Given the description of an element on the screen output the (x, y) to click on. 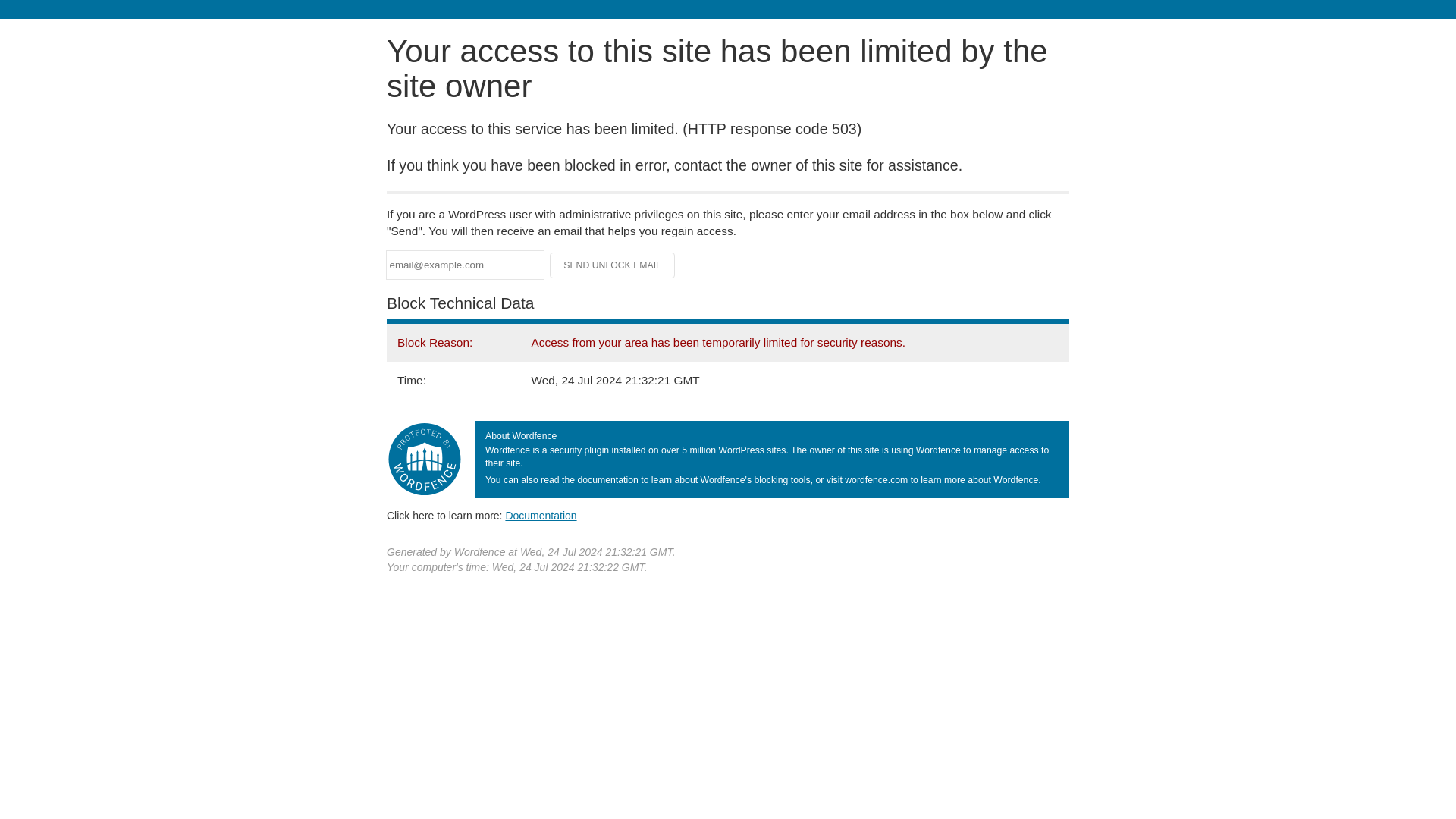
Documentation (540, 515)
Send Unlock Email (612, 265)
Send Unlock Email (612, 265)
